Given the description of an element on the screen output the (x, y) to click on. 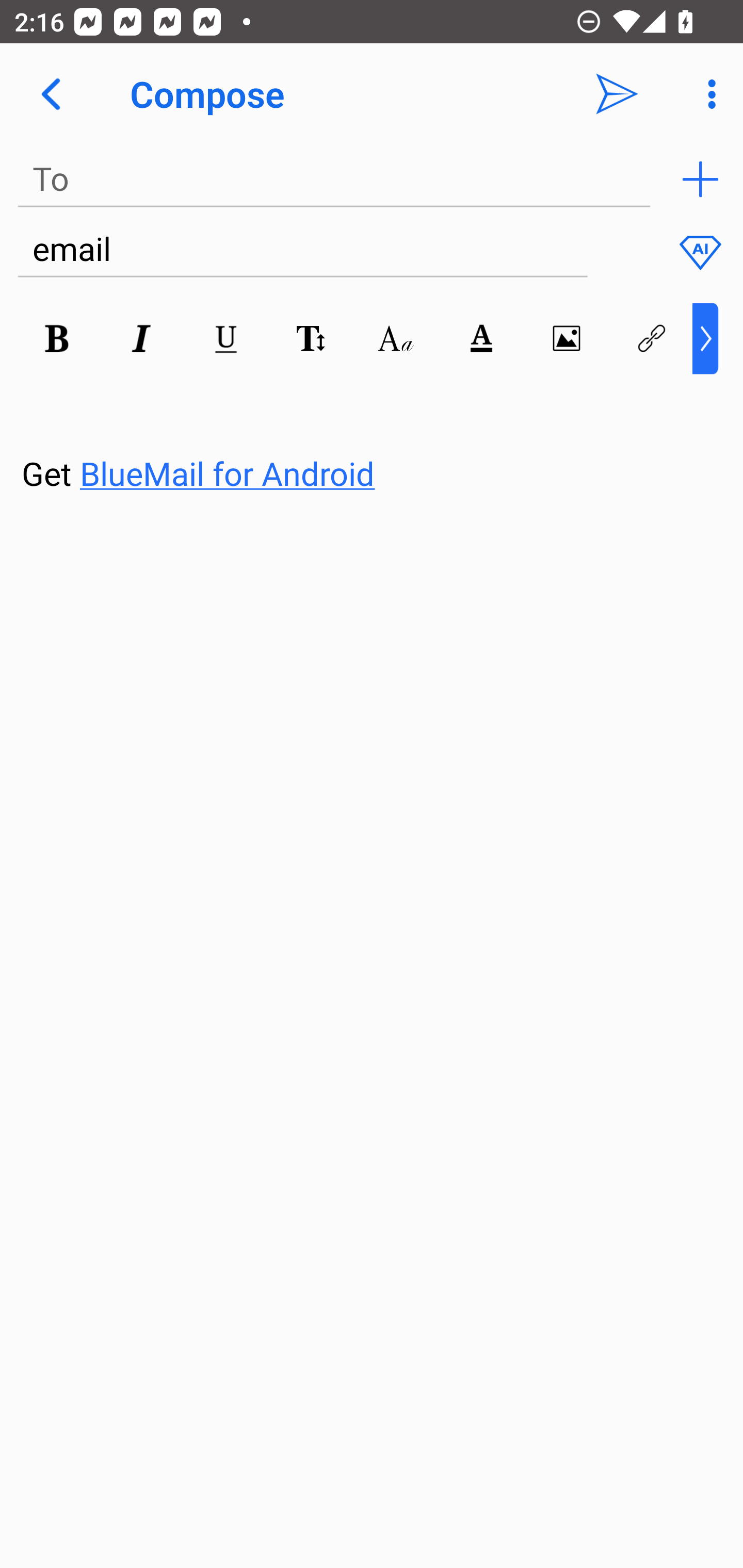
Navigate up (50, 93)
Send (616, 93)
More Options (706, 93)
To (334, 179)
Add recipient (To) (699, 179)
email (302, 249)


⁣Get BlueMail for Android ​ (355, 435)
